Given the description of an element on the screen output the (x, y) to click on. 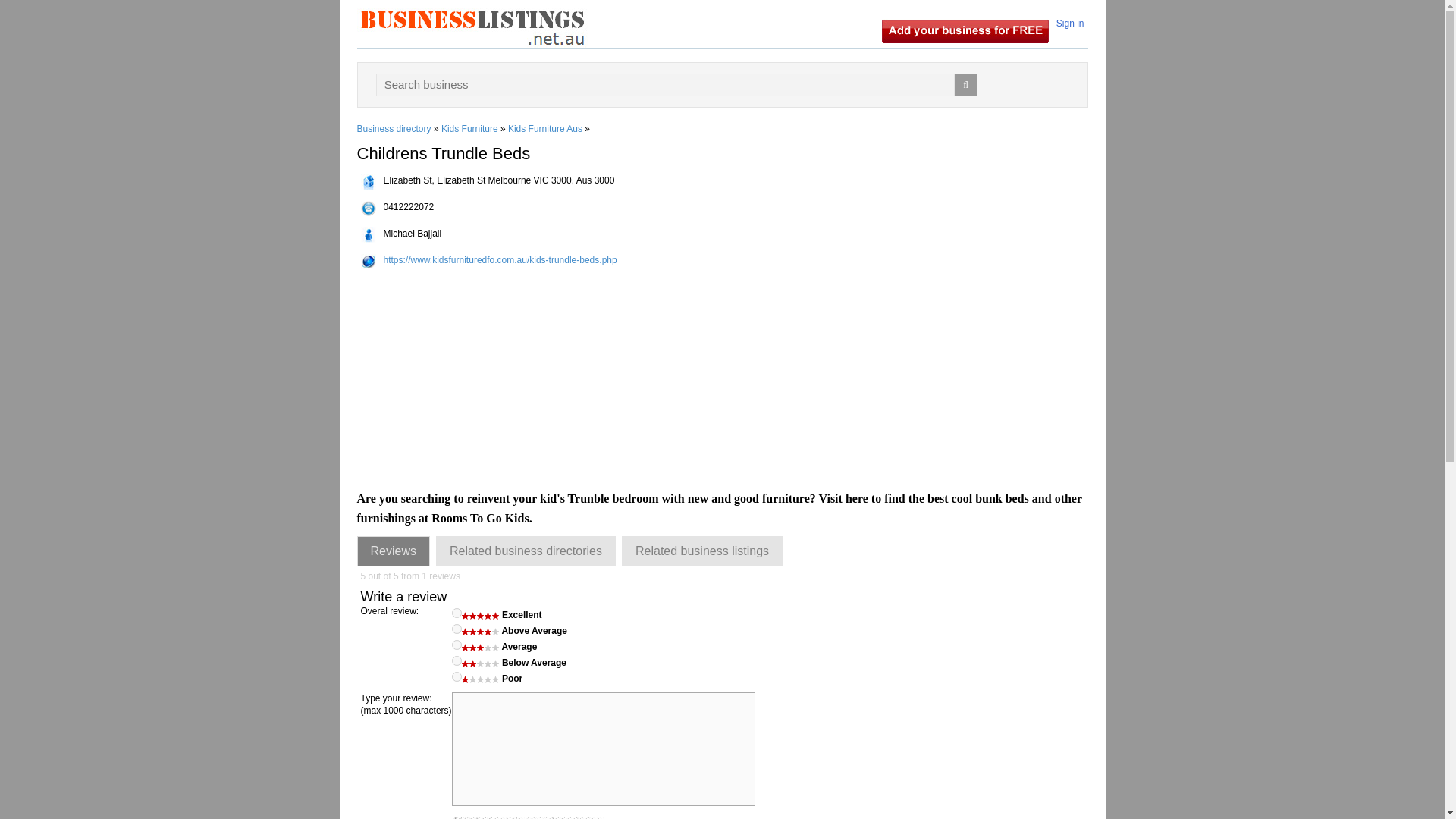
1 (456, 676)
Related business listings (702, 551)
Reviews (392, 551)
3 (456, 644)
4 (456, 628)
Business Listings (472, 27)
Sign in (1069, 23)
5 (456, 613)
Related business directories (525, 551)
Add you business for free (964, 30)
